Given the description of an element on the screen output the (x, y) to click on. 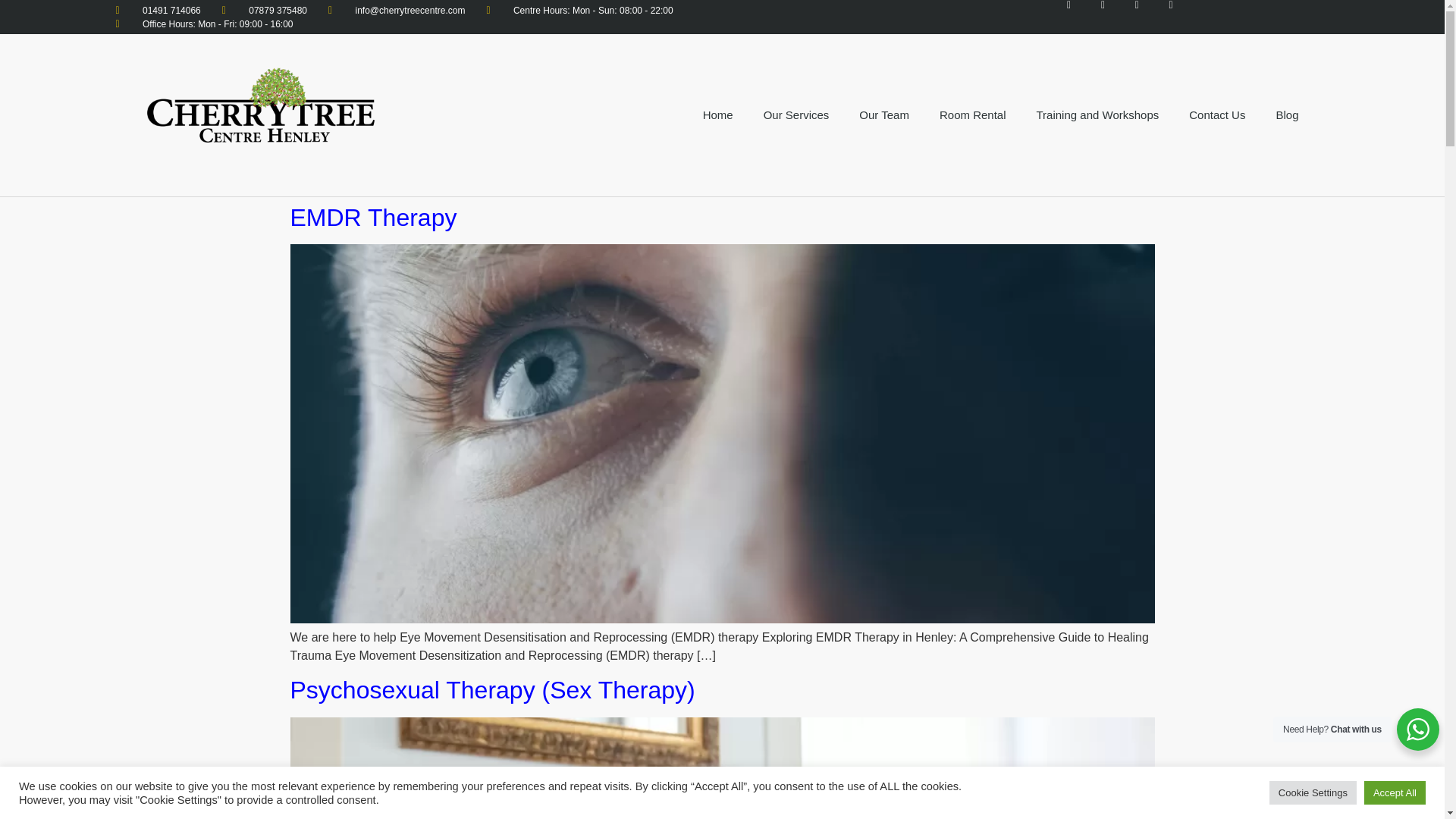
Our Services (796, 115)
Training and Workshops (1096, 115)
01491 714066 (157, 9)
Room Rental (973, 115)
07879 375480 (264, 9)
EMDR Therapy (373, 216)
